Given the description of an element on the screen output the (x, y) to click on. 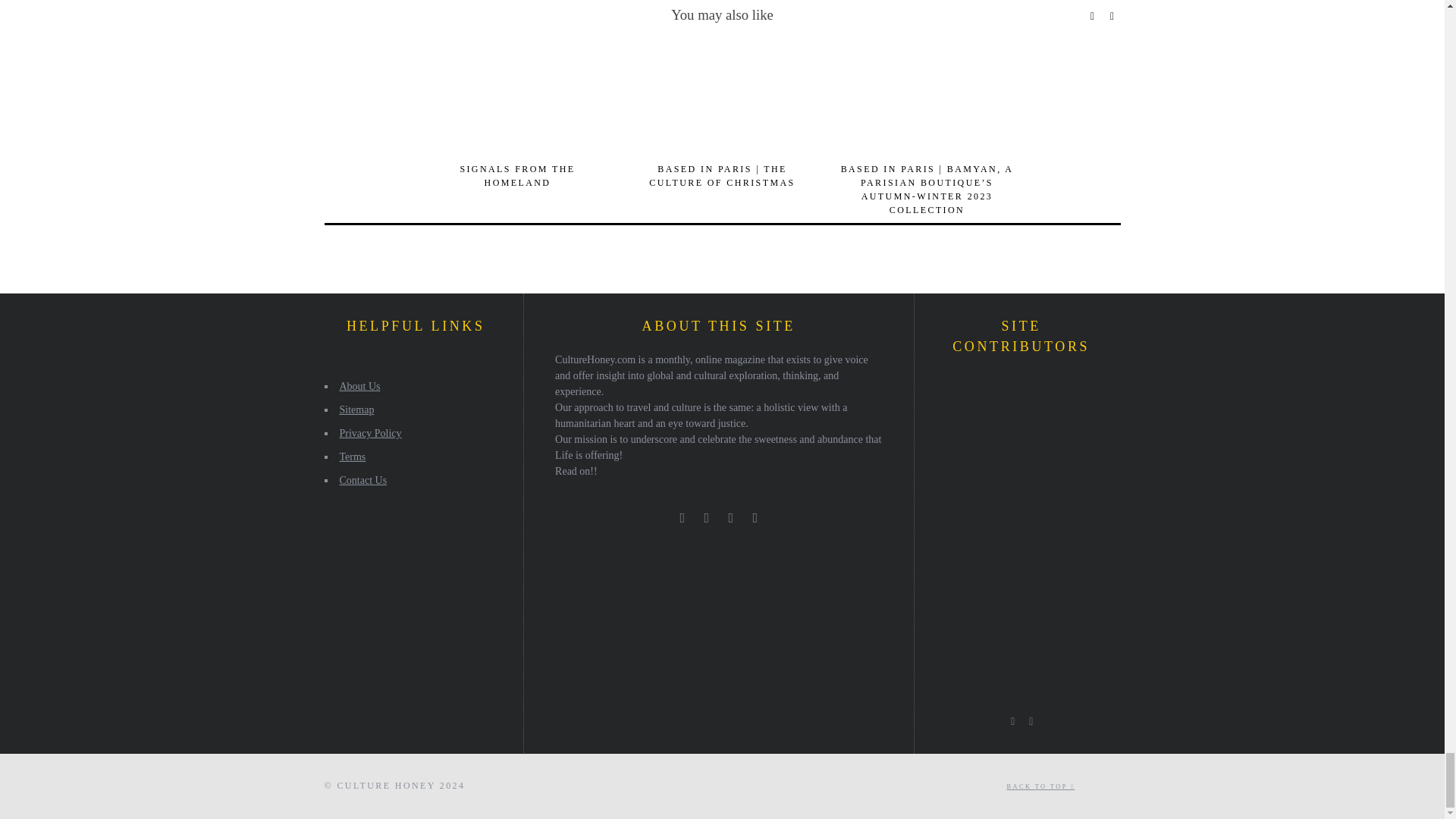
Aurore Rominger (950, 392)
Max Boyle (992, 517)
James Farr (950, 517)
Kortni Sims (1033, 392)
Emily Greene (992, 434)
Eden Huma (1075, 475)
Esther O'Loughlin (950, 475)
Ken Bower (1033, 475)
Brian Biery (1075, 434)
Jonathan Scott (1033, 434)
Natalie Patterson (992, 475)
Julie Clark (992, 392)
Victoria Hernandez (1033, 517)
